Given the description of an element on the screen output the (x, y) to click on. 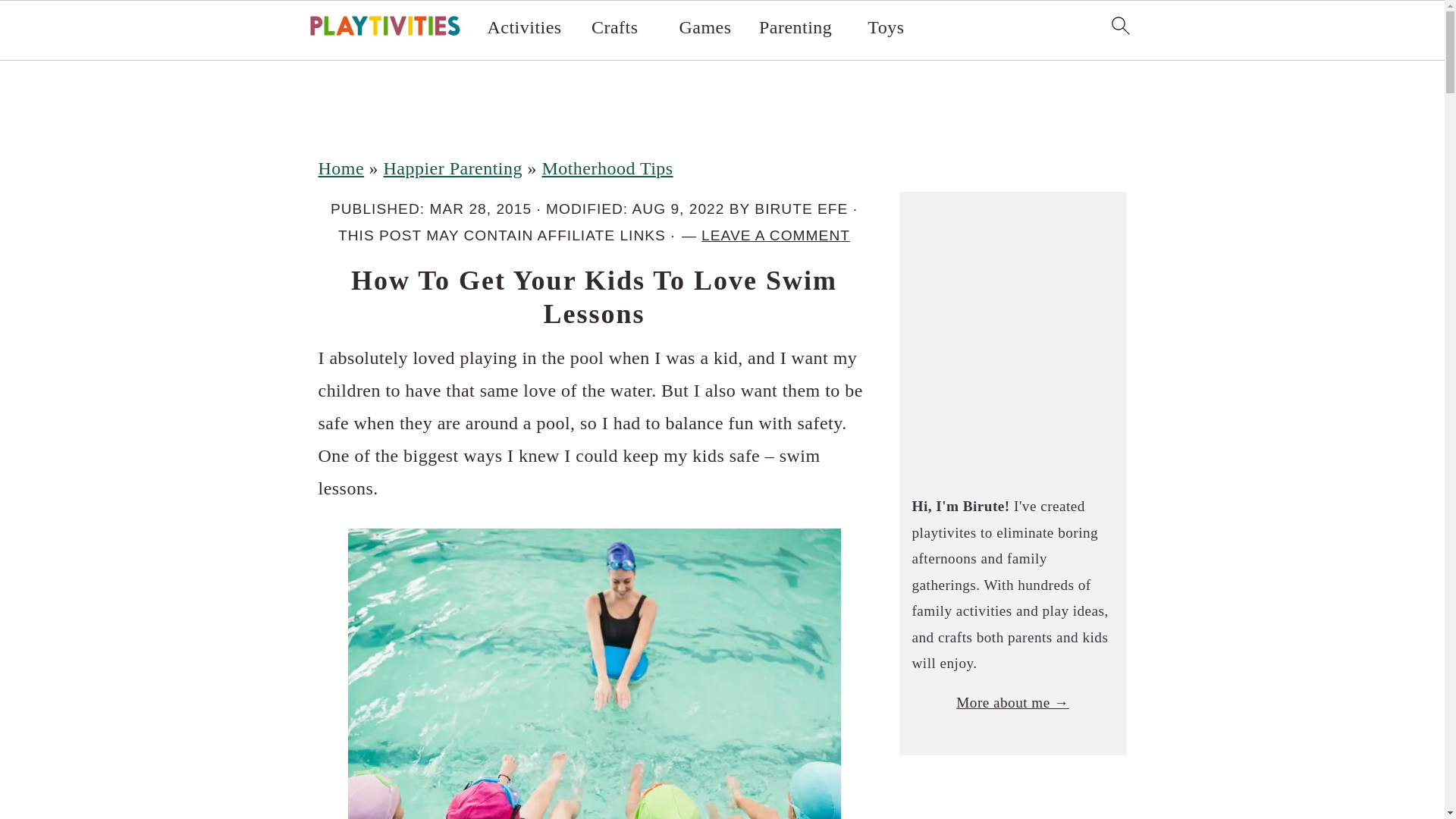
Parenting (794, 27)
Activities (524, 27)
Games (704, 27)
Toys (885, 27)
search icon (1119, 25)
Crafts (615, 27)
